Given the description of an element on the screen output the (x, y) to click on. 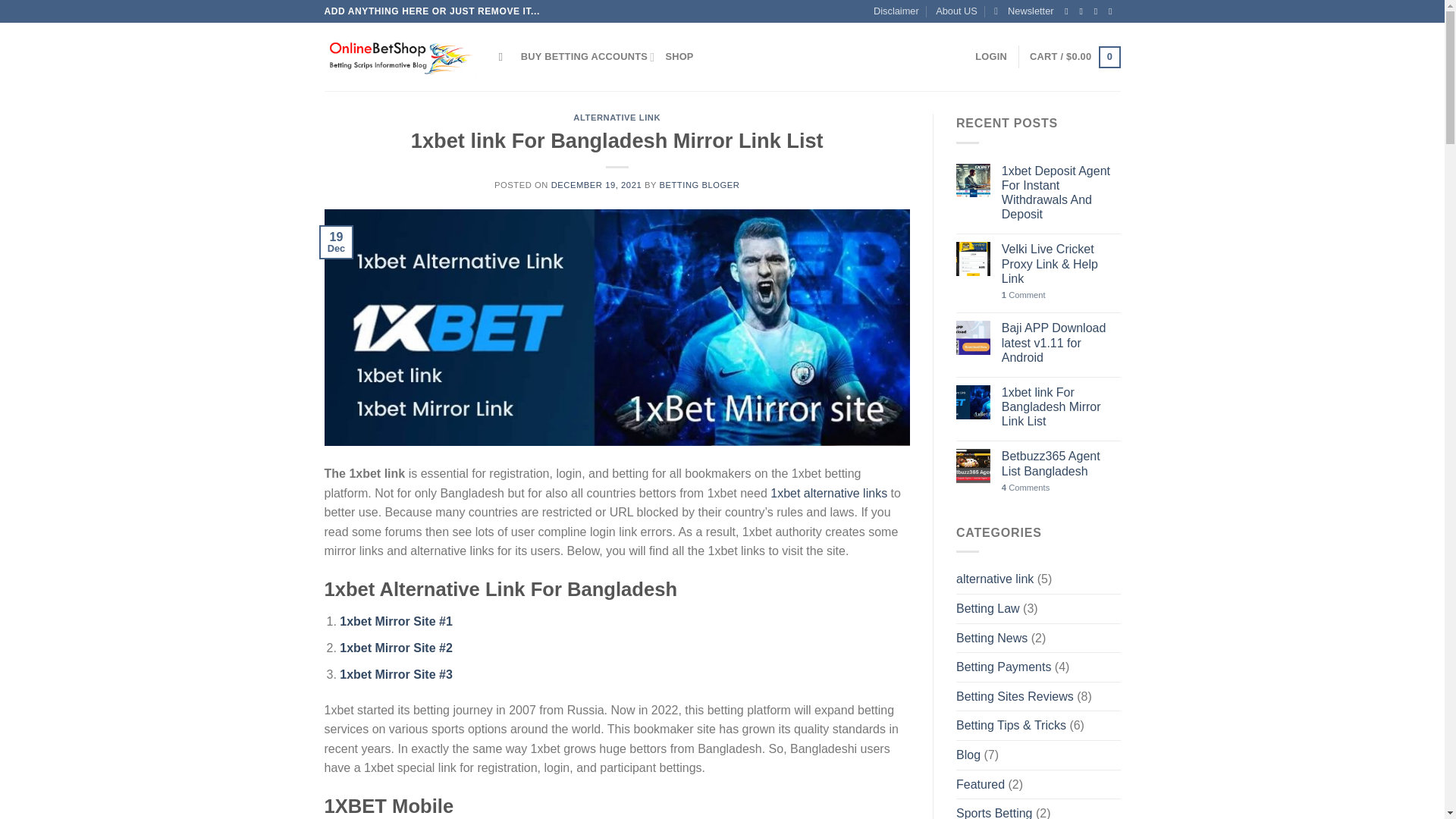
Newsletter (1023, 11)
LOGIN (991, 56)
Cart (1074, 57)
DECEMBER 19, 2021 (596, 184)
BUY BETTING ACCOUNTS (588, 56)
BETTING BLOGER (699, 184)
ALTERNATIVE LINK (617, 117)
About US (956, 11)
Disclaimer (895, 11)
Sign up for Newsletter (1023, 11)
1xbet alternative links (828, 492)
SHOP (679, 56)
